Given the description of an element on the screen output the (x, y) to click on. 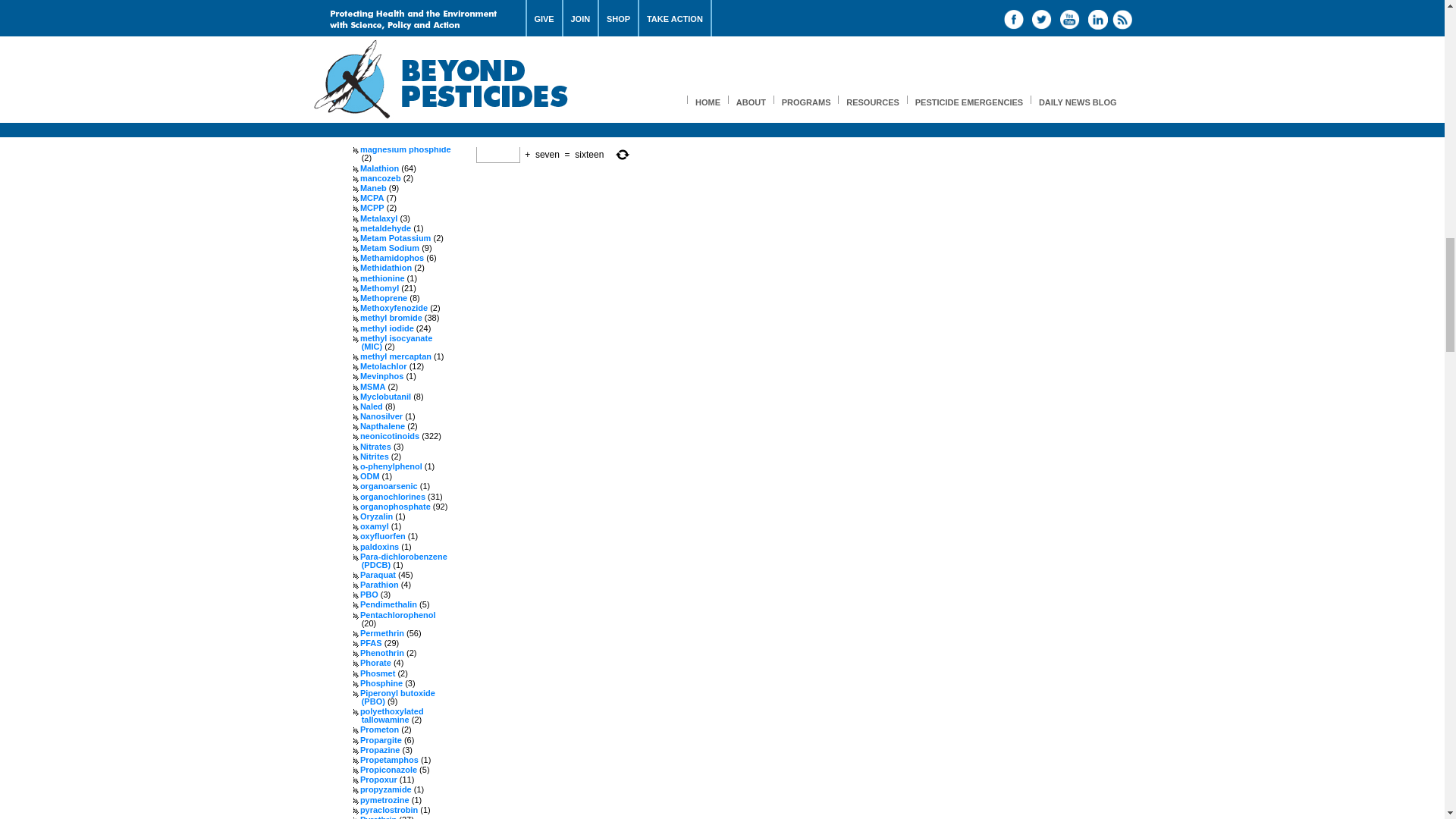
Submit Comment (523, 129)
